Given the description of an element on the screen output the (x, y) to click on. 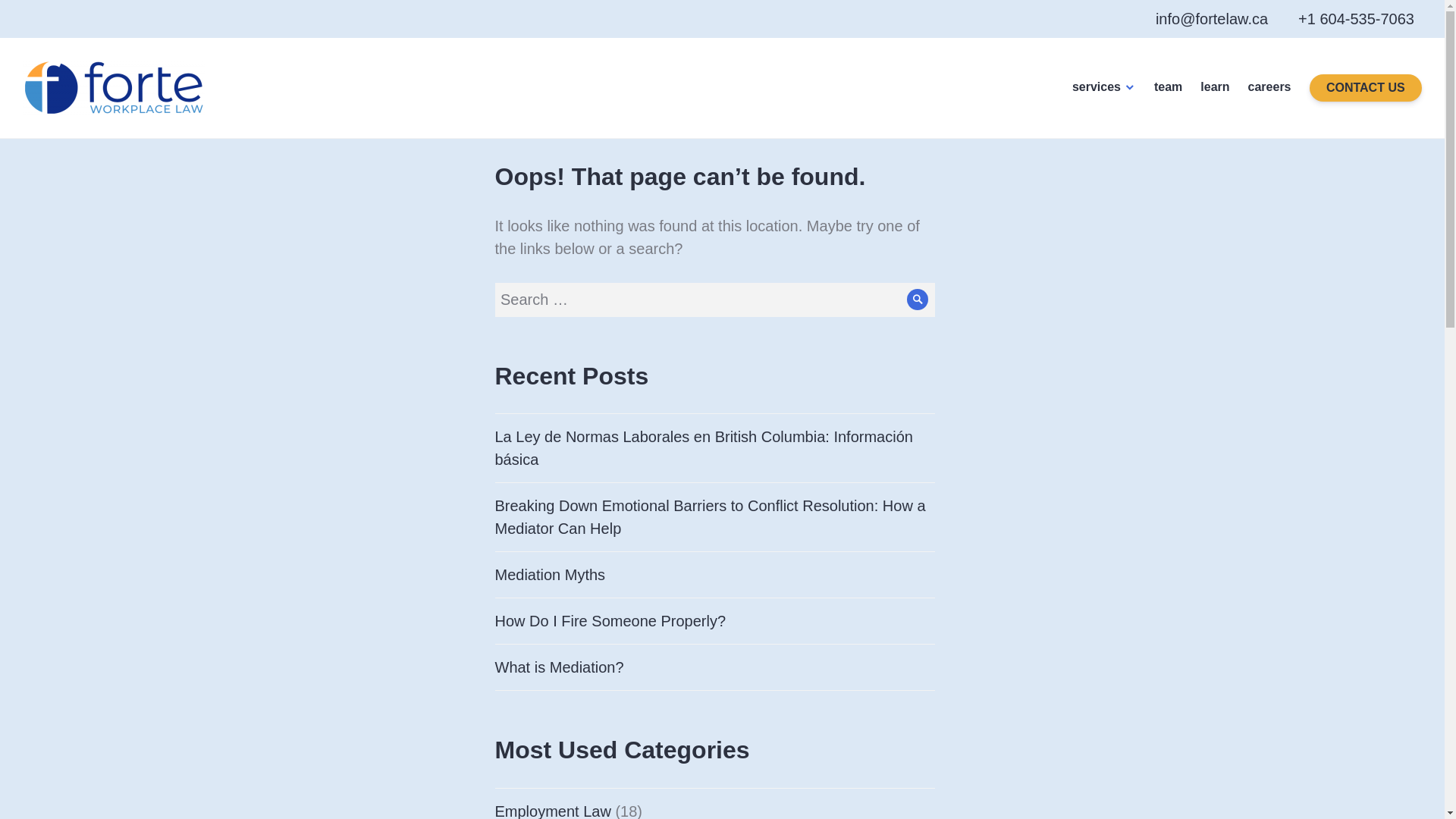
careers (1269, 87)
team (1168, 87)
services (1103, 87)
learn (1213, 87)
Mediation Myths (550, 574)
Employment Law (552, 810)
How Do I Fire Someone Properly? (610, 620)
Search for: (714, 298)
Forte Law (67, 136)
CONTACT US (1365, 88)
Search (917, 298)
What is Mediation? (559, 667)
